Given the description of an element on the screen output the (x, y) to click on. 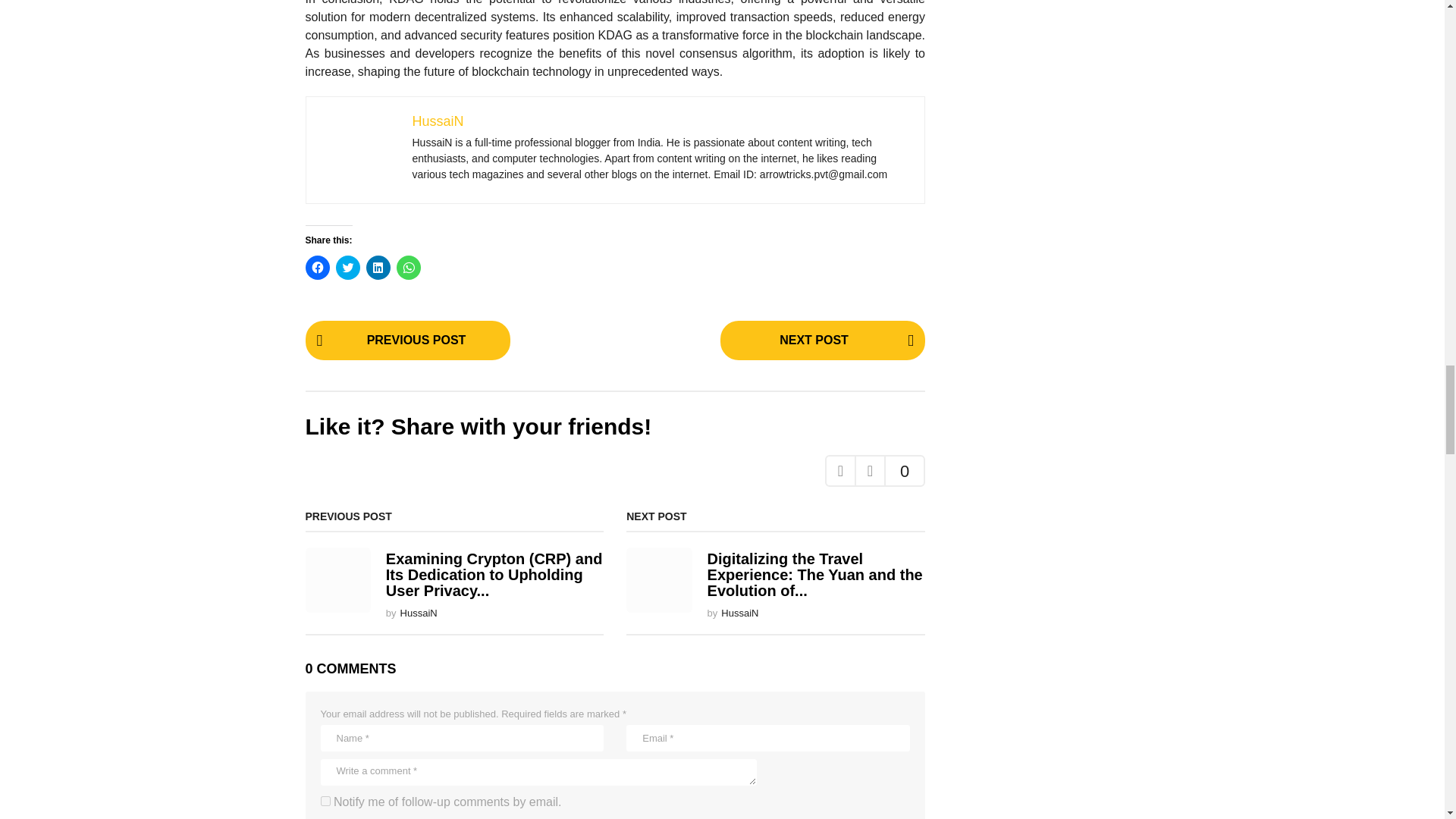
Click to share on LinkedIn (377, 267)
subscribe (325, 800)
Click to share on WhatsApp (408, 267)
Click to share on Twitter (346, 267)
Click to share on Facebook (316, 267)
